Given the description of an element on the screen output the (x, y) to click on. 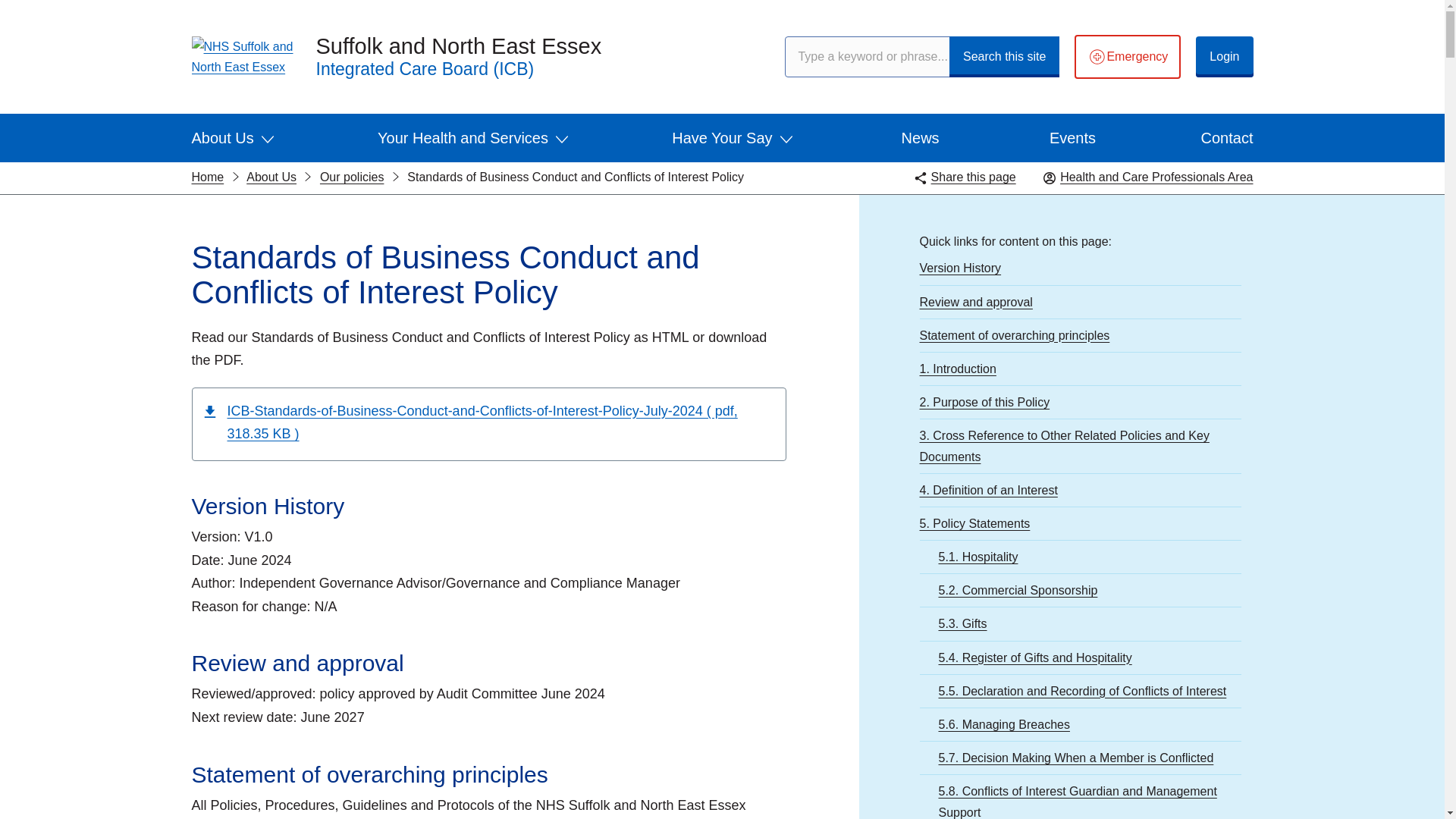
About Us (232, 137)
Login (1223, 56)
Search this site (1004, 56)
Emergency (1127, 56)
NHS Suffolk and North East Essex ICB website home page (241, 56)
